Given the description of an element on the screen output the (x, y) to click on. 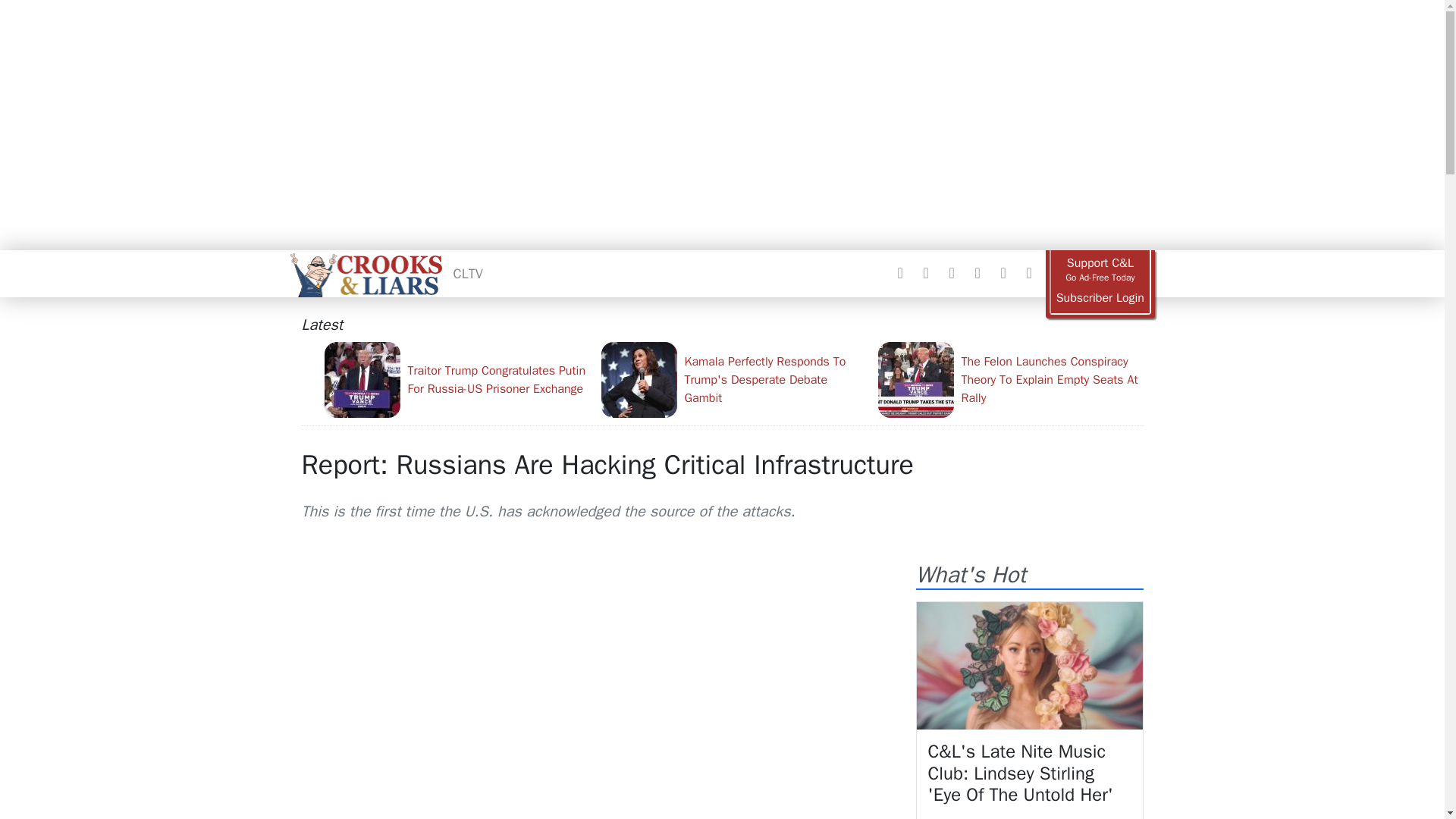
Report: Russians Are Hacking Critical Infrastructure (607, 464)
Go ad free today! (1099, 270)
Subscriber Login (1099, 298)
Kamala Perfectly Responds To Trump's Desperate Debate Gambit (732, 379)
Kamala Perfectly Responds To Trump's Desperate Debate Gambit (732, 379)
Login to your ad free account (1099, 298)
